Given the description of an element on the screen output the (x, y) to click on. 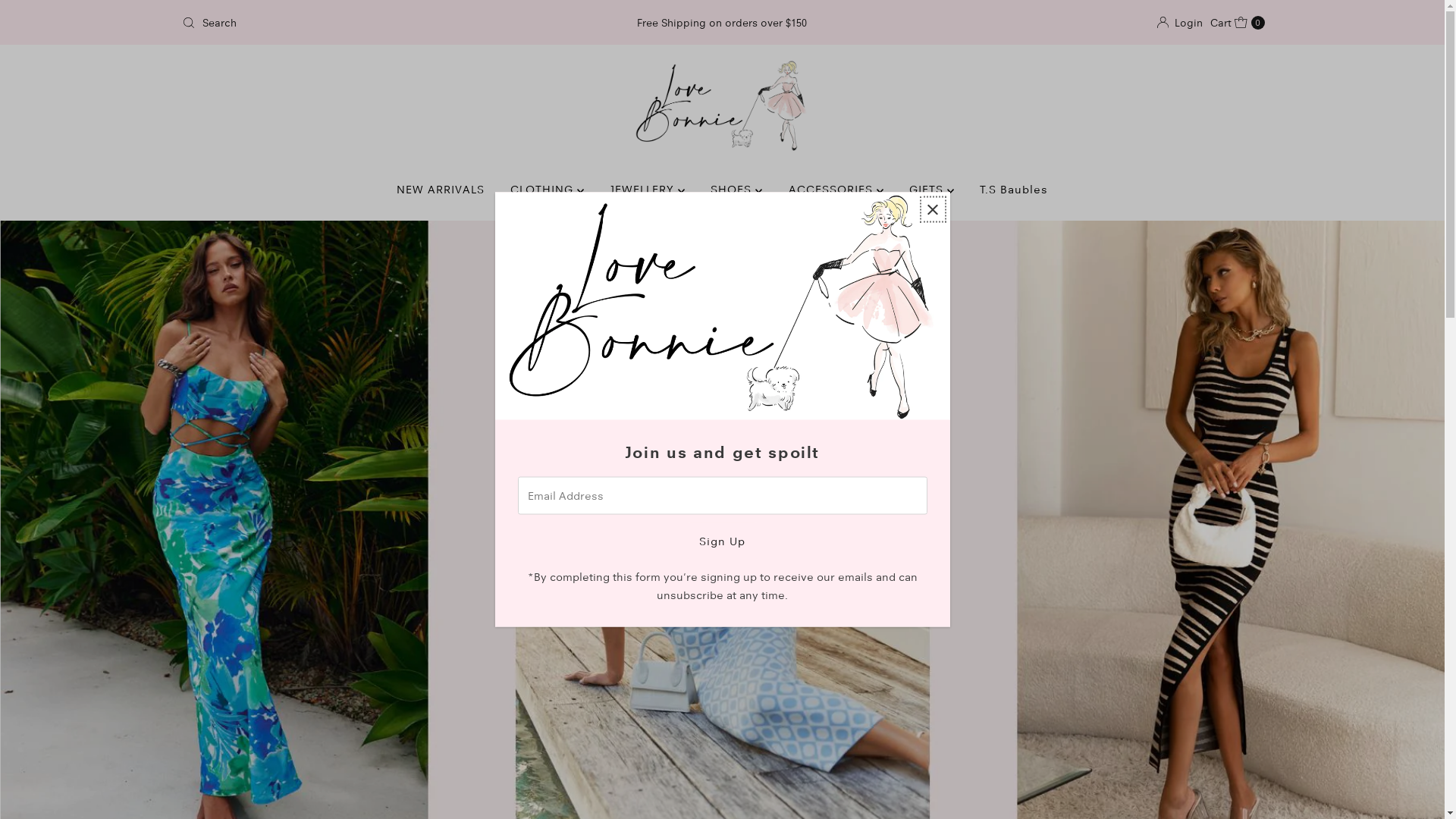
Sign Up Element type: text (721, 540)
Search our store Element type: hover (353, 22)
Close popup Element type: hover (932, 208)
NEW ARRIVALS Element type: text (440, 189)
  Login Element type: text (1179, 22)
T.S Baubles Element type: text (1013, 189)
Cart 
0 Element type: text (1237, 22)
